Given the description of an element on the screen output the (x, y) to click on. 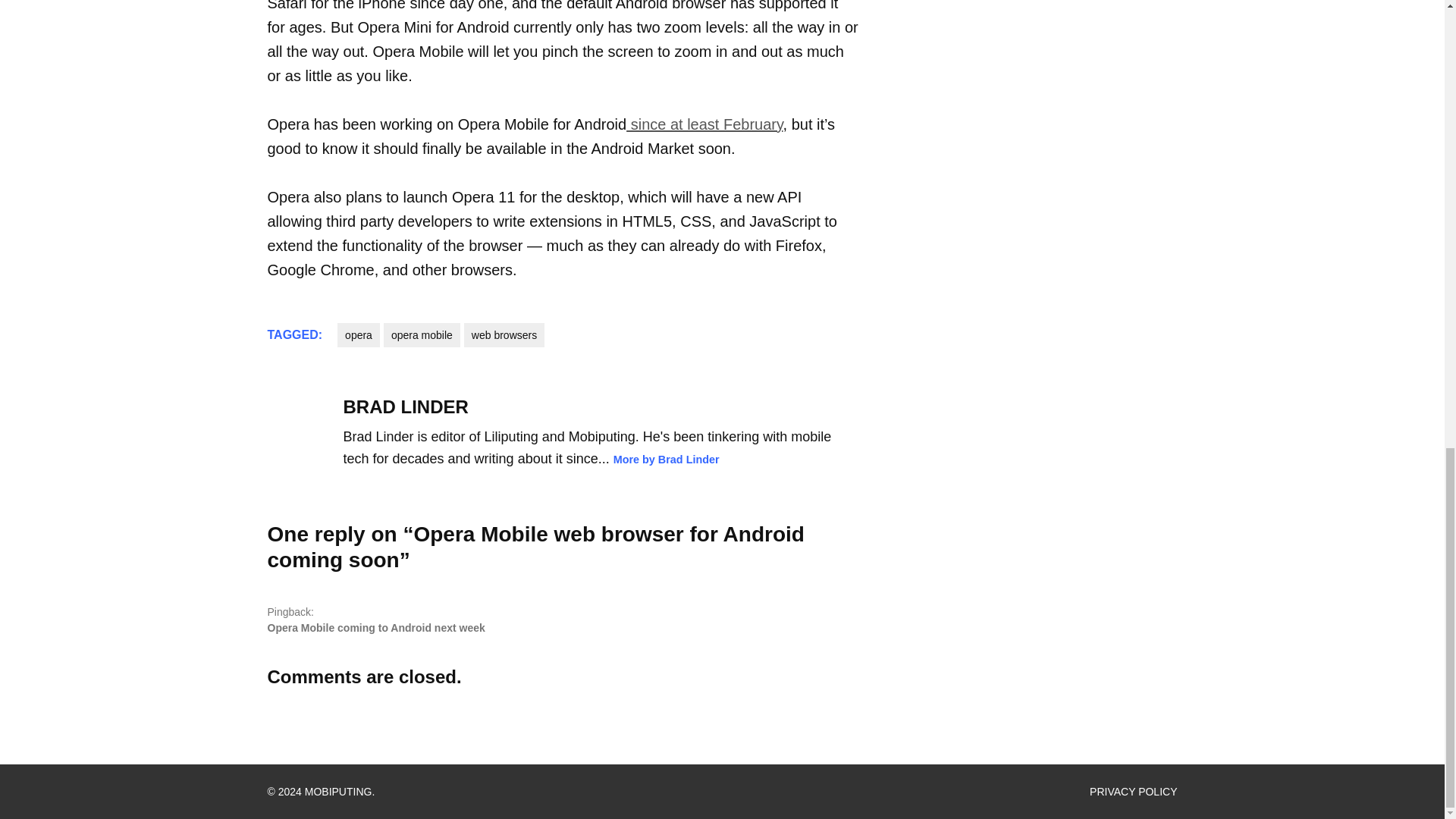
opera (358, 334)
web browsers (504, 334)
opera mobile (422, 334)
since at least February (704, 124)
